Given the description of an element on the screen output the (x, y) to click on. 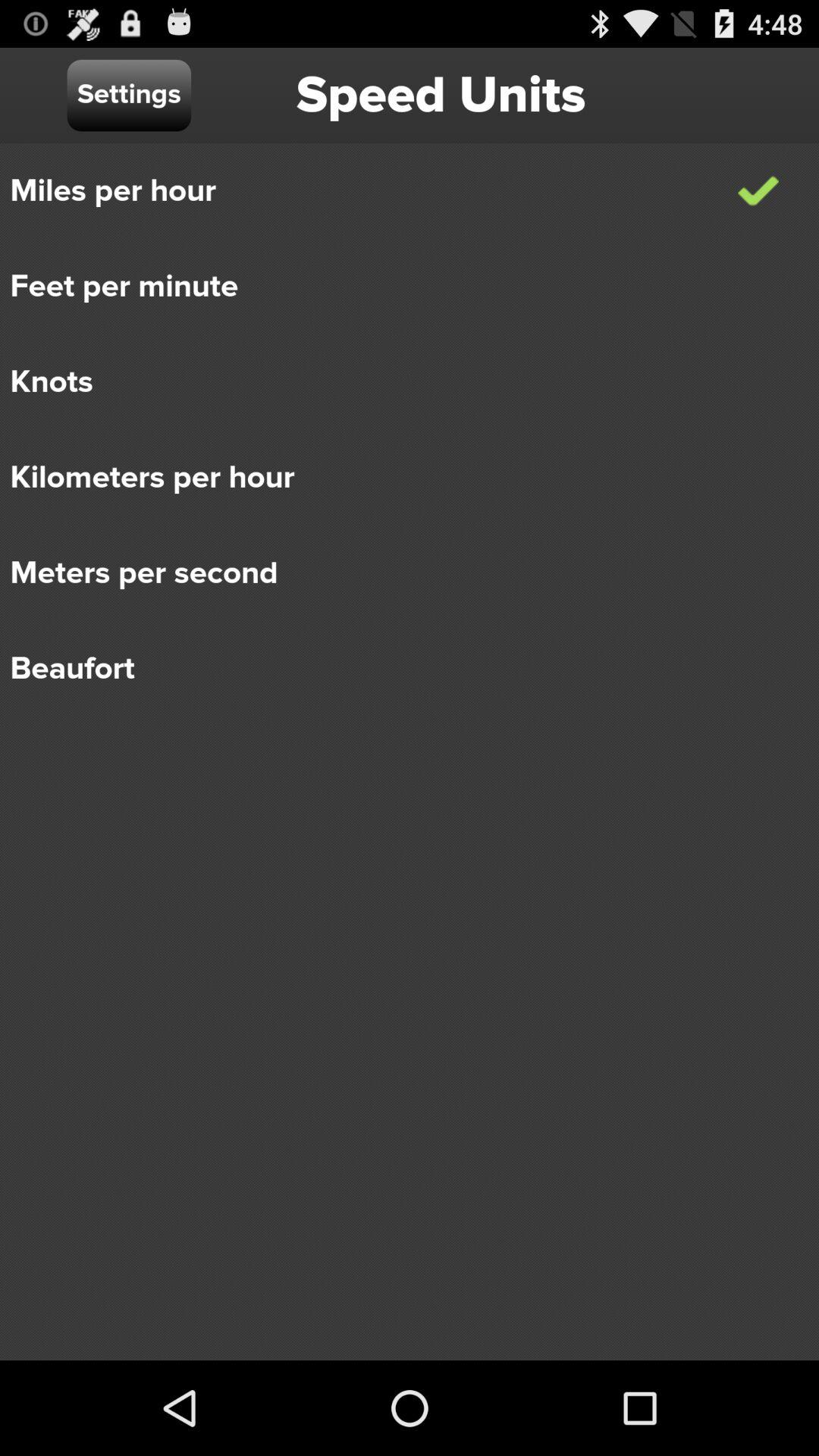
choose icon above beaufort icon (399, 572)
